Given the description of an element on the screen output the (x, y) to click on. 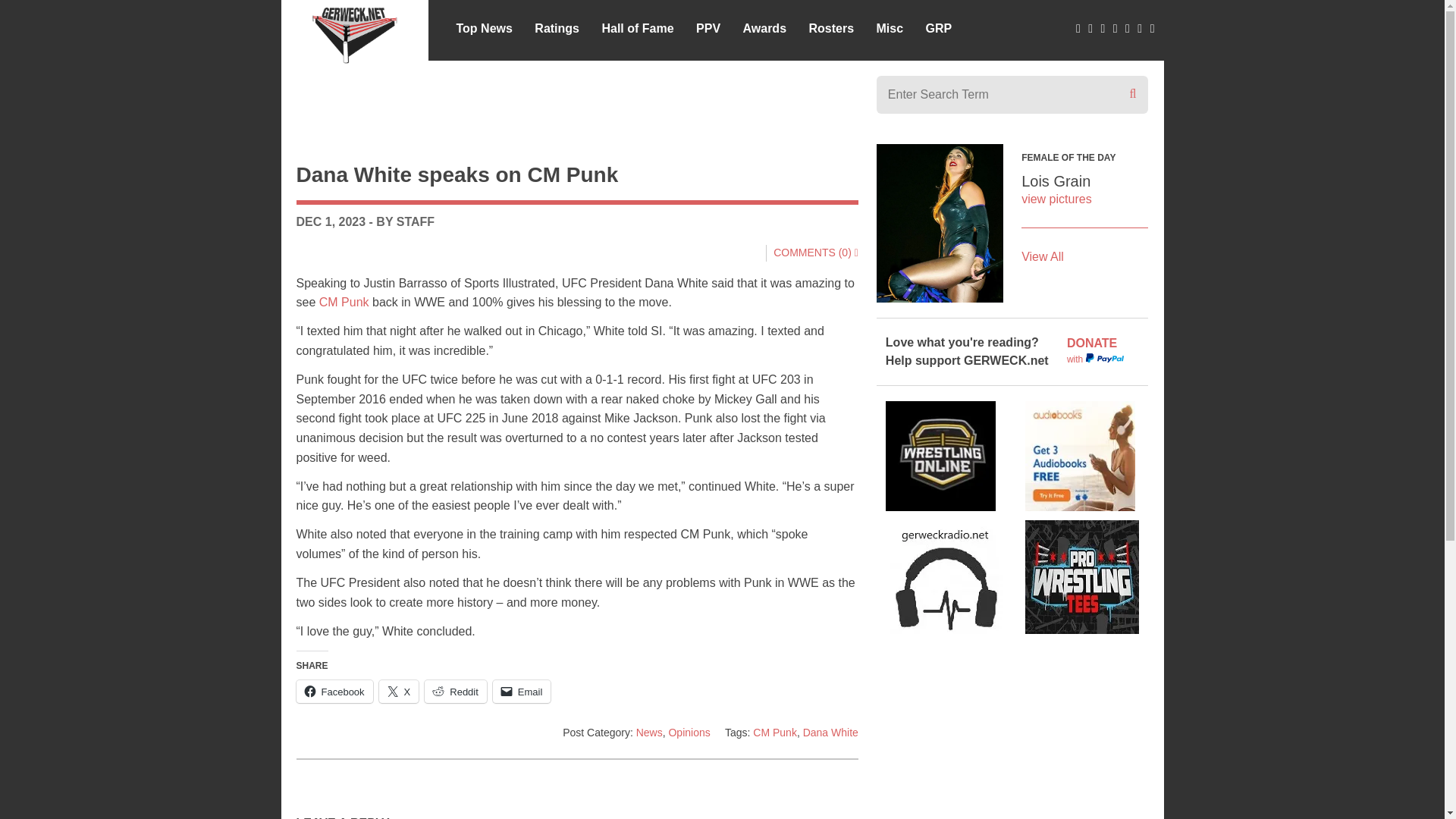
Click to share on X (398, 691)
Click to share on Reddit (455, 691)
Click to share on Facebook (333, 691)
Hall of Fame (636, 28)
Ratings (556, 28)
PPV (707, 28)
Top News (484, 28)
Gerweck.net (355, 31)
Click to email a link to a friend (522, 691)
